Given the description of an element on the screen output the (x, y) to click on. 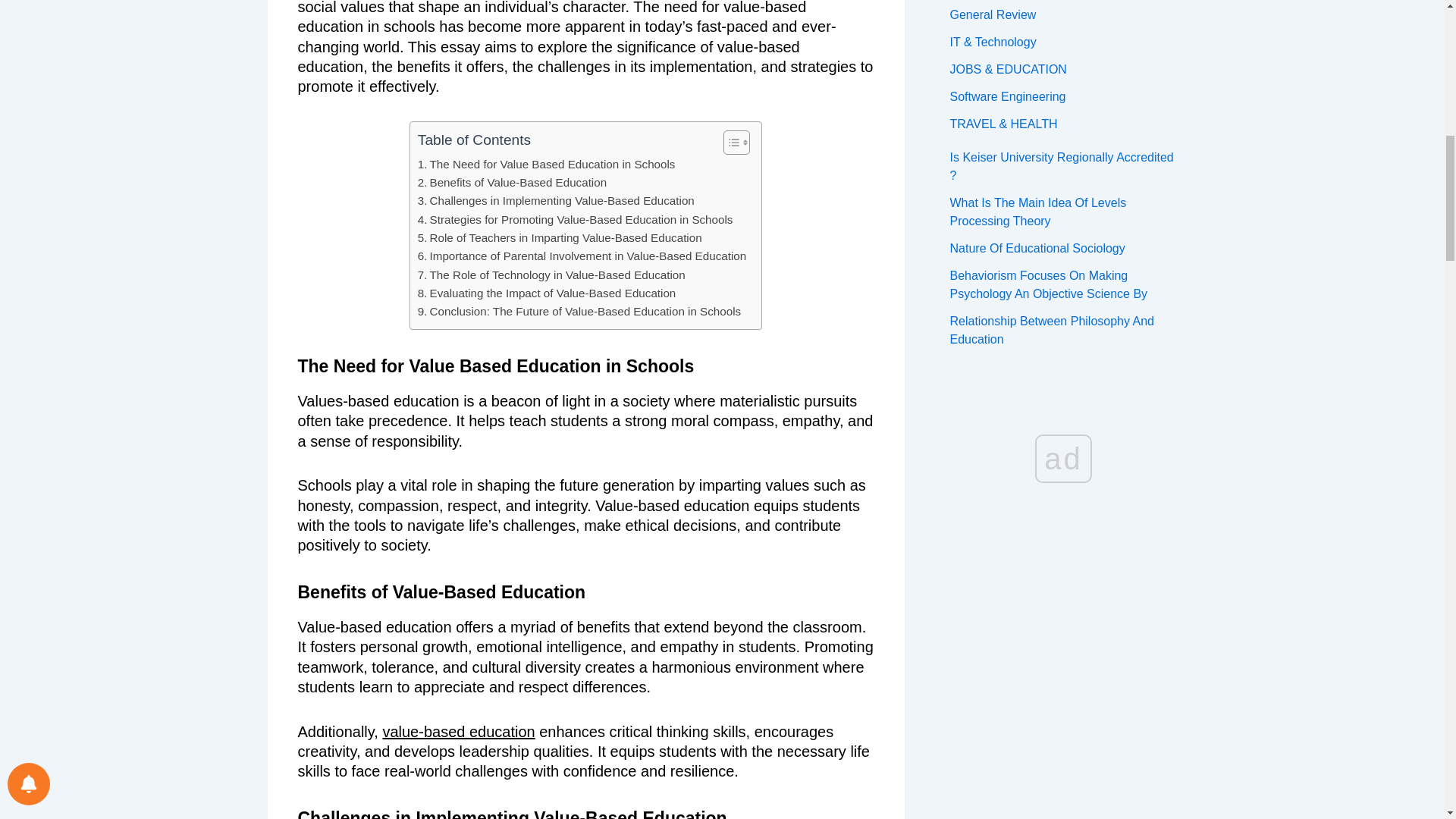
Strategies for Promoting Value-Based Education in Schools (575, 219)
Role of Teachers in Imparting Value-Based Education (559, 238)
Evaluating the Impact of Value-Based Education (546, 293)
The Need for Value Based Education in Schools (546, 164)
Importance of Parental Involvement in Value-Based Education (581, 256)
Benefits of Value-Based Education (512, 182)
Challenges in Implementing Value-Based Education (555, 200)
The Role of Technology in Value-Based Education (551, 275)
Conclusion: The Future of Value-Based Education in Schools (579, 311)
